Given the description of an element on the screen output the (x, y) to click on. 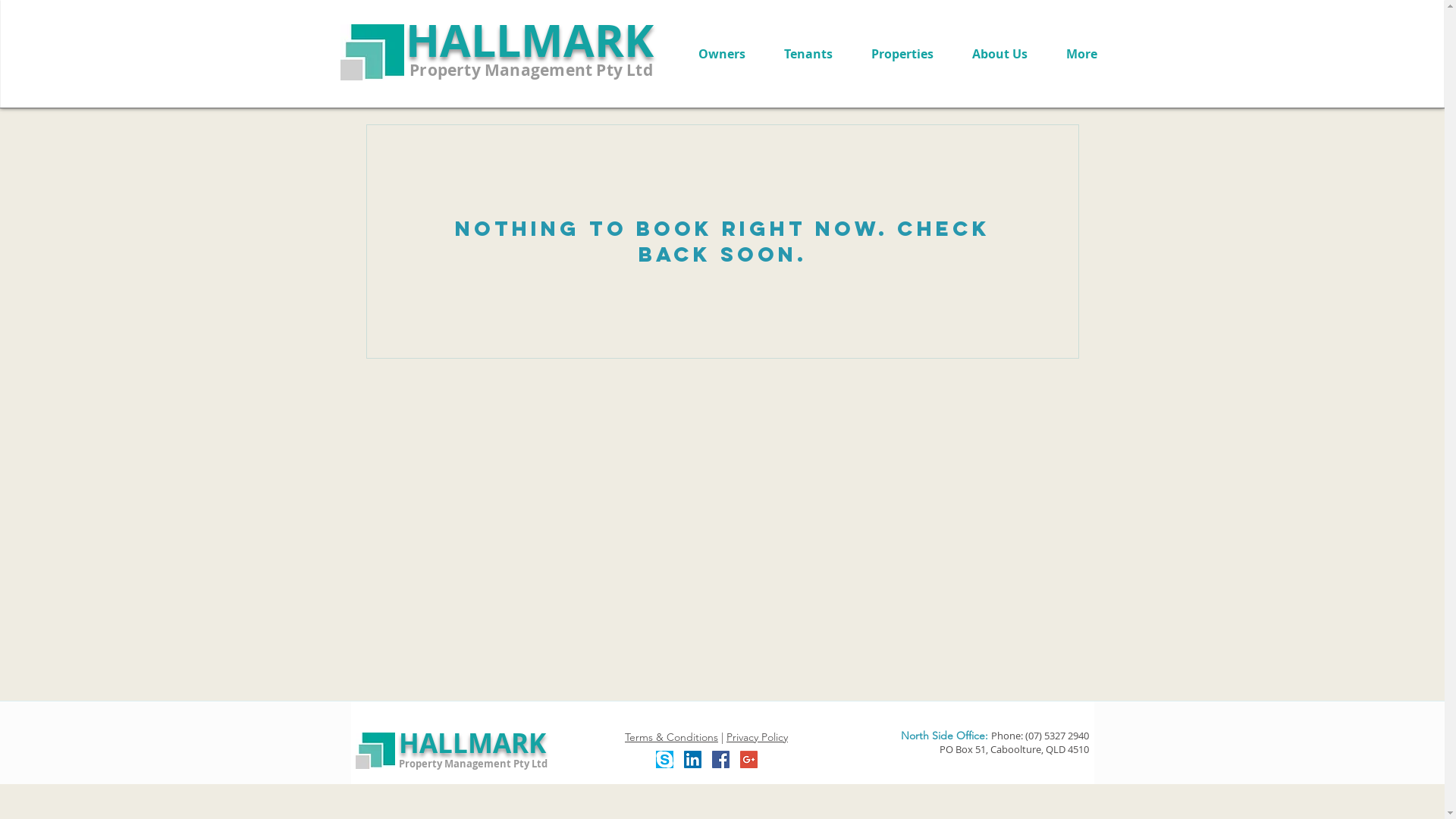
Terms & Conditions Element type: text (671, 736)
Properties Element type: text (902, 53)
Tenants Element type: text (807, 53)
Owners Element type: text (722, 53)
Privacy Policy Element type: text (756, 736)
HALLMARK Element type: text (528, 39)
About Us Element type: text (999, 53)
